Given the description of an element on the screen output the (x, y) to click on. 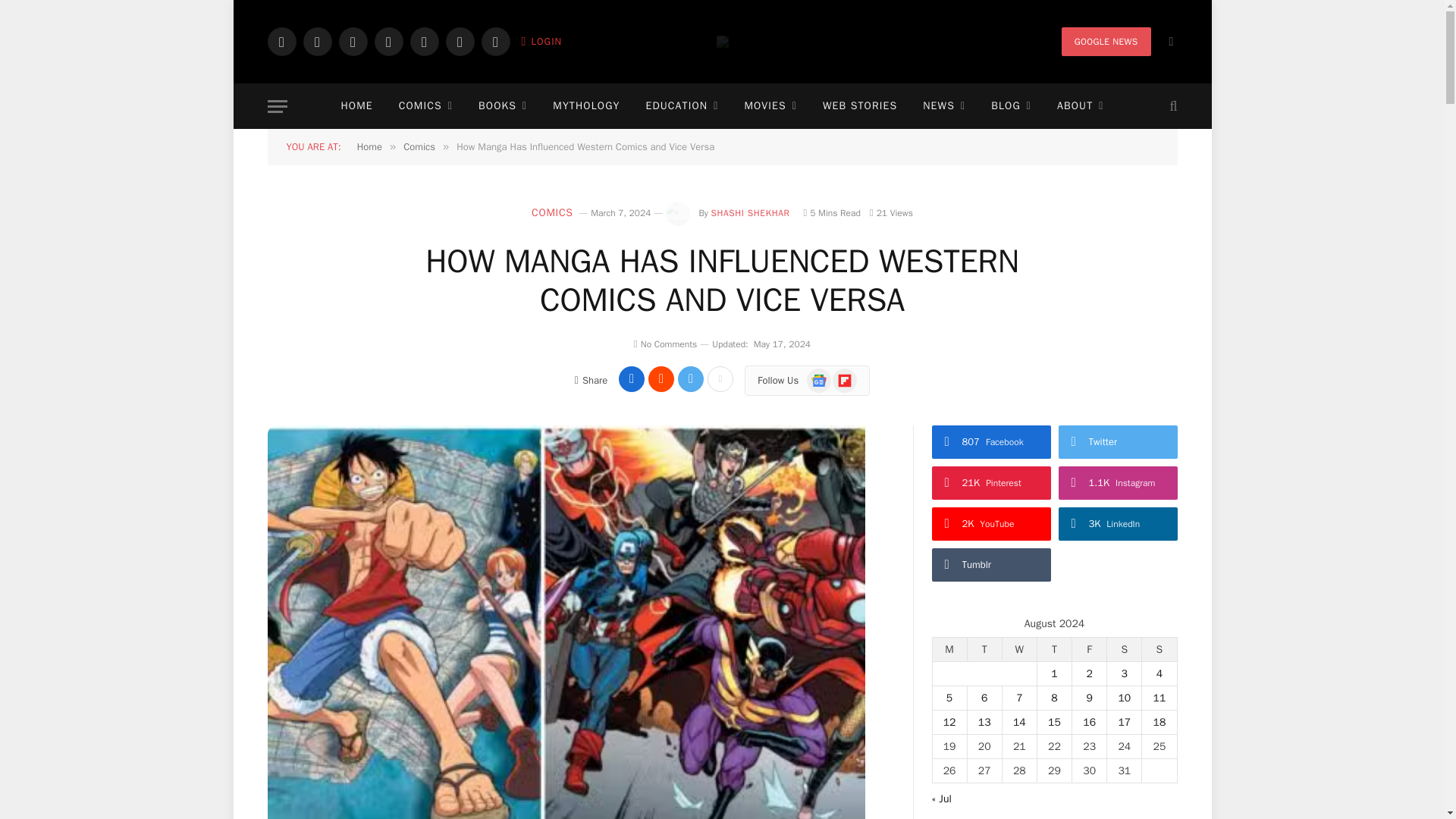
Facebook (280, 41)
Instagram (351, 41)
GOOGLE NEWS (1106, 41)
Share on Reddit (660, 379)
BOOKS (502, 105)
HOME (356, 105)
21 Article Views (890, 213)
Posts by shashi shekhar (749, 213)
YouTube (423, 41)
LOGIN (541, 41)
